Given the description of an element on the screen output the (x, y) to click on. 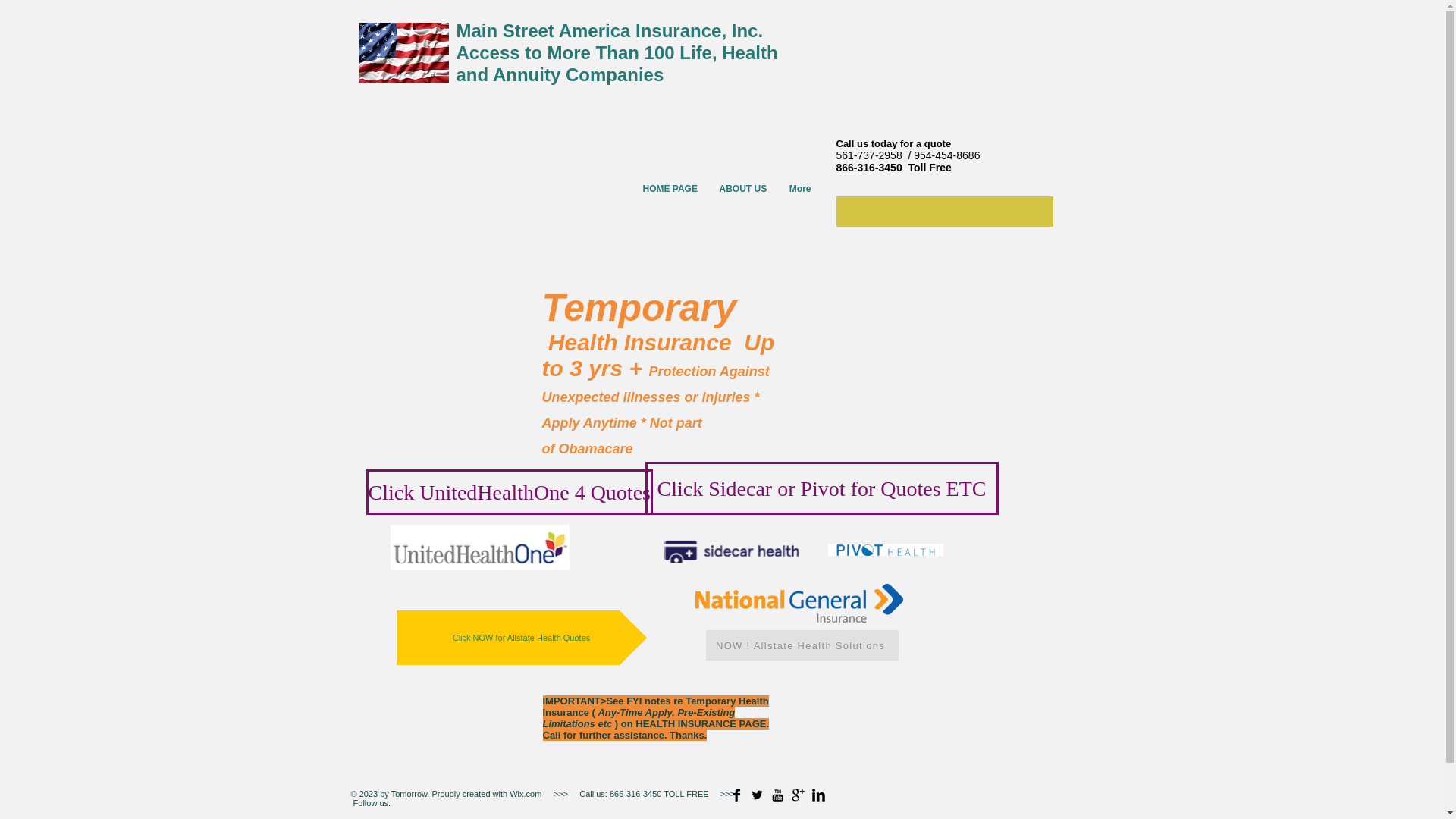
ABOUT US (742, 189)
Wix.com (523, 793)
HOME PAGE (668, 189)
Click NOW for Allstate Health Quotes (620, 41)
ccess to More Than 100 Life, Health and Annuity Companies (521, 637)
American flag waving (617, 63)
NOW ! Allstate Health Solutions (403, 52)
